Given the description of an element on the screen output the (x, y) to click on. 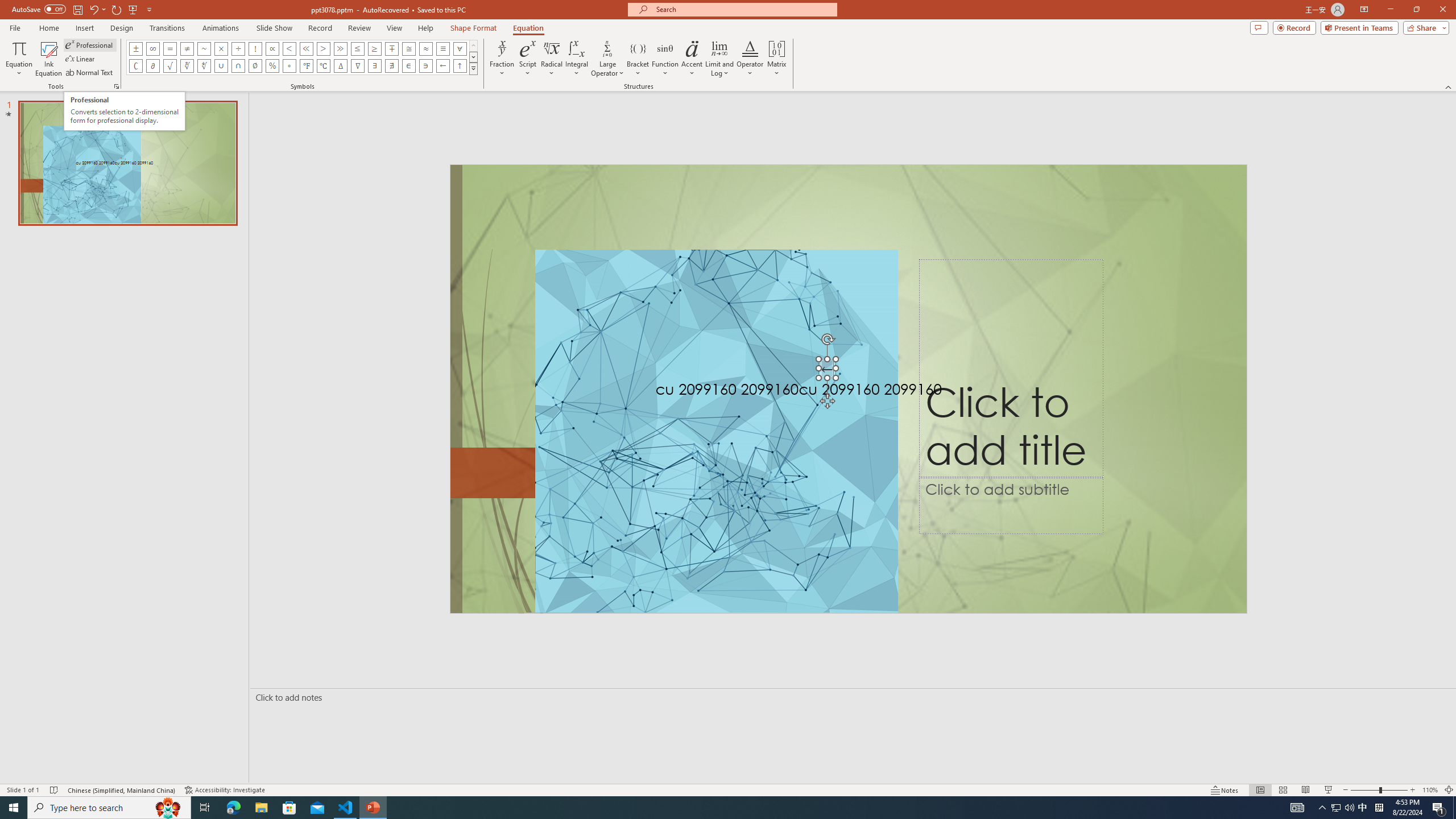
Equation Symbol Up Arrow (459, 65)
Linear (81, 58)
Equation Symbol Greater Than or Equal To (374, 48)
Bracket (638, 58)
Equation Symbol Less Than or Equal To (357, 48)
Zoom 110% (1430, 790)
Equation Symbol Equal (170, 48)
Equation Symbol Left Arrow (442, 65)
